Given the description of an element on the screen output the (x, y) to click on. 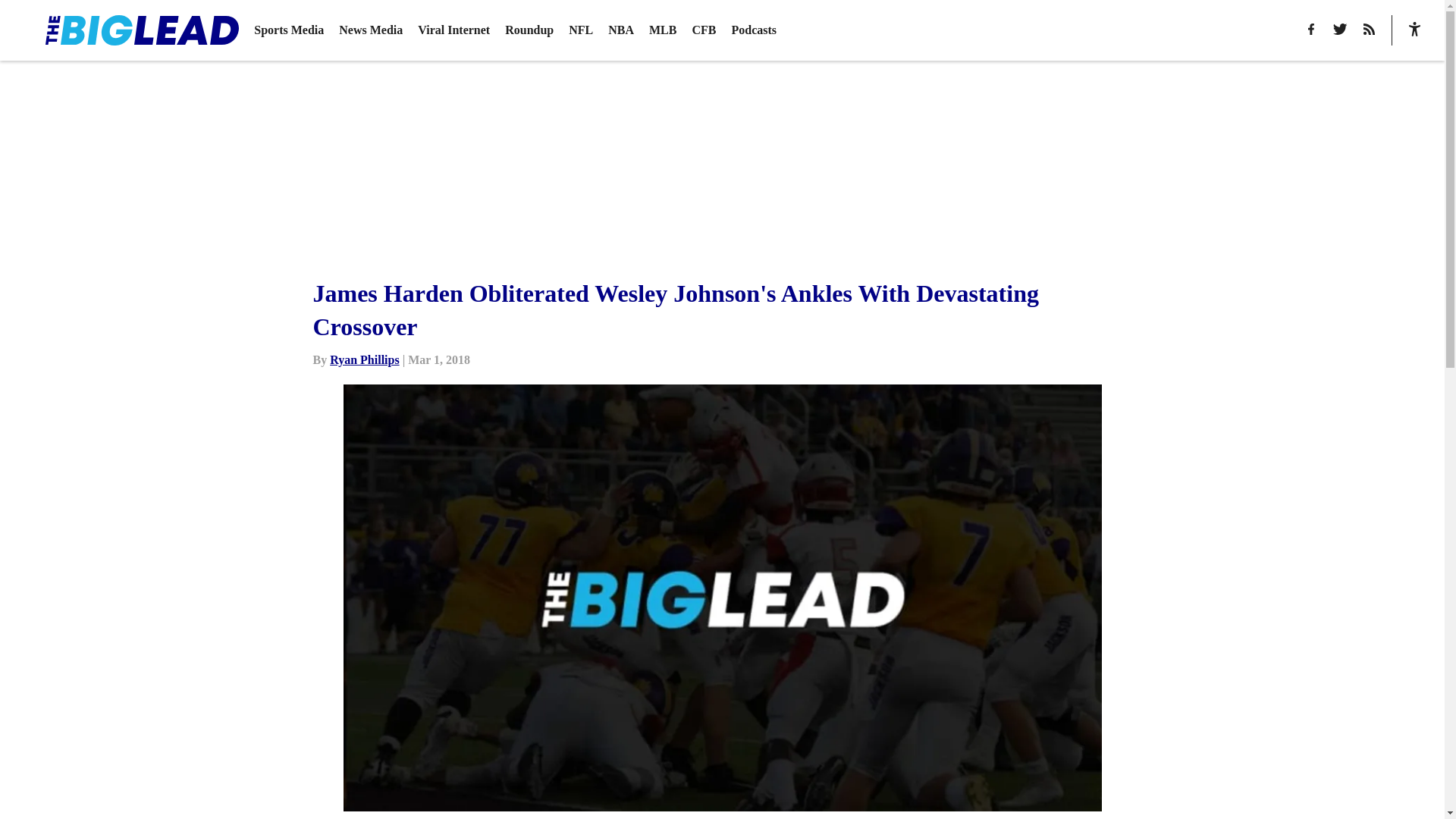
Sports Media (288, 30)
Roundup (529, 30)
Podcasts (753, 30)
MLB (663, 30)
NBA (620, 30)
Ryan Phillips (364, 359)
CFB (703, 30)
Viral Internet (453, 30)
News Media (371, 30)
NFL (580, 30)
